Given the description of an element on the screen output the (x, y) to click on. 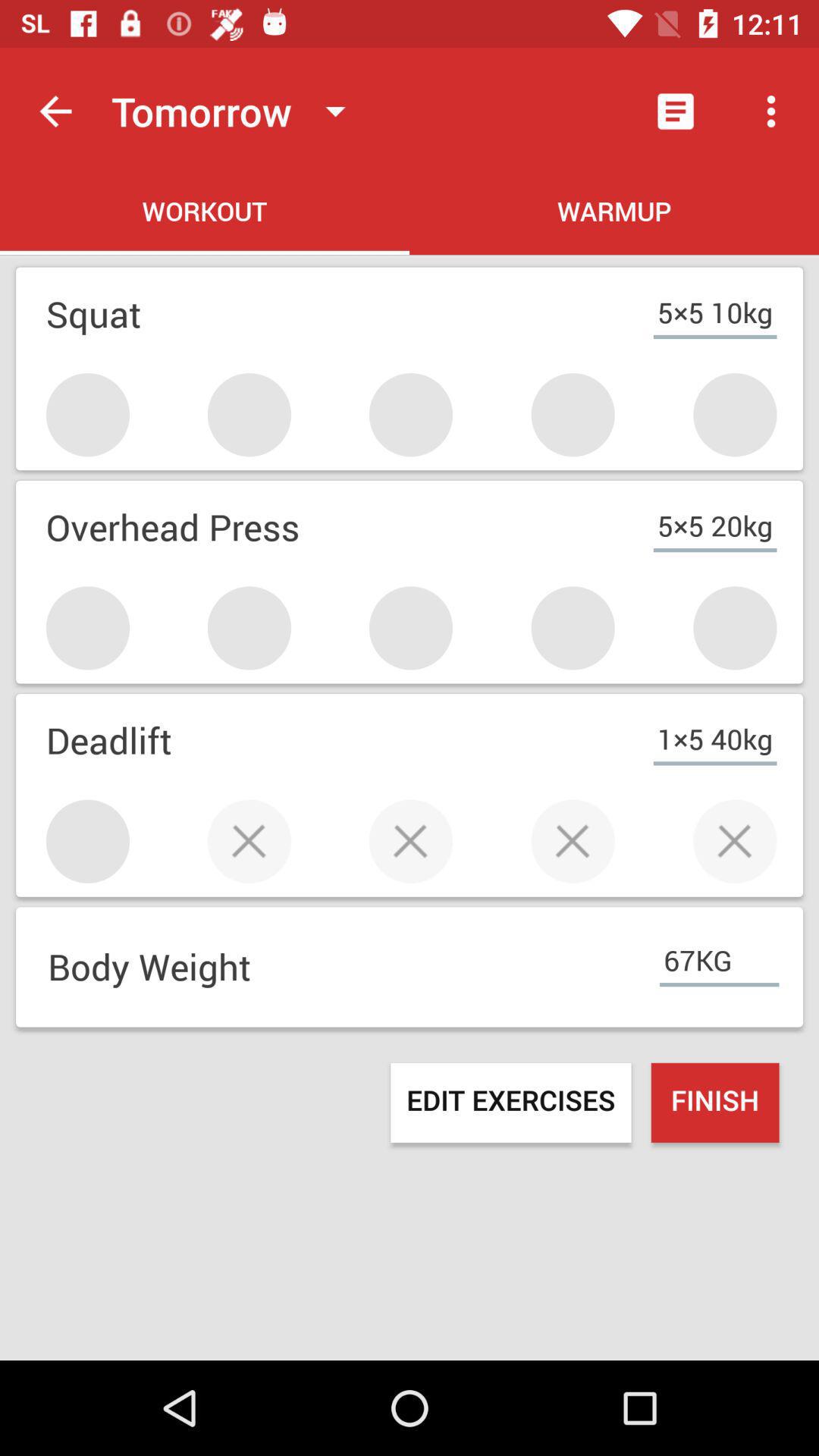
launch the item above workout icon (55, 111)
